Given the description of an element on the screen output the (x, y) to click on. 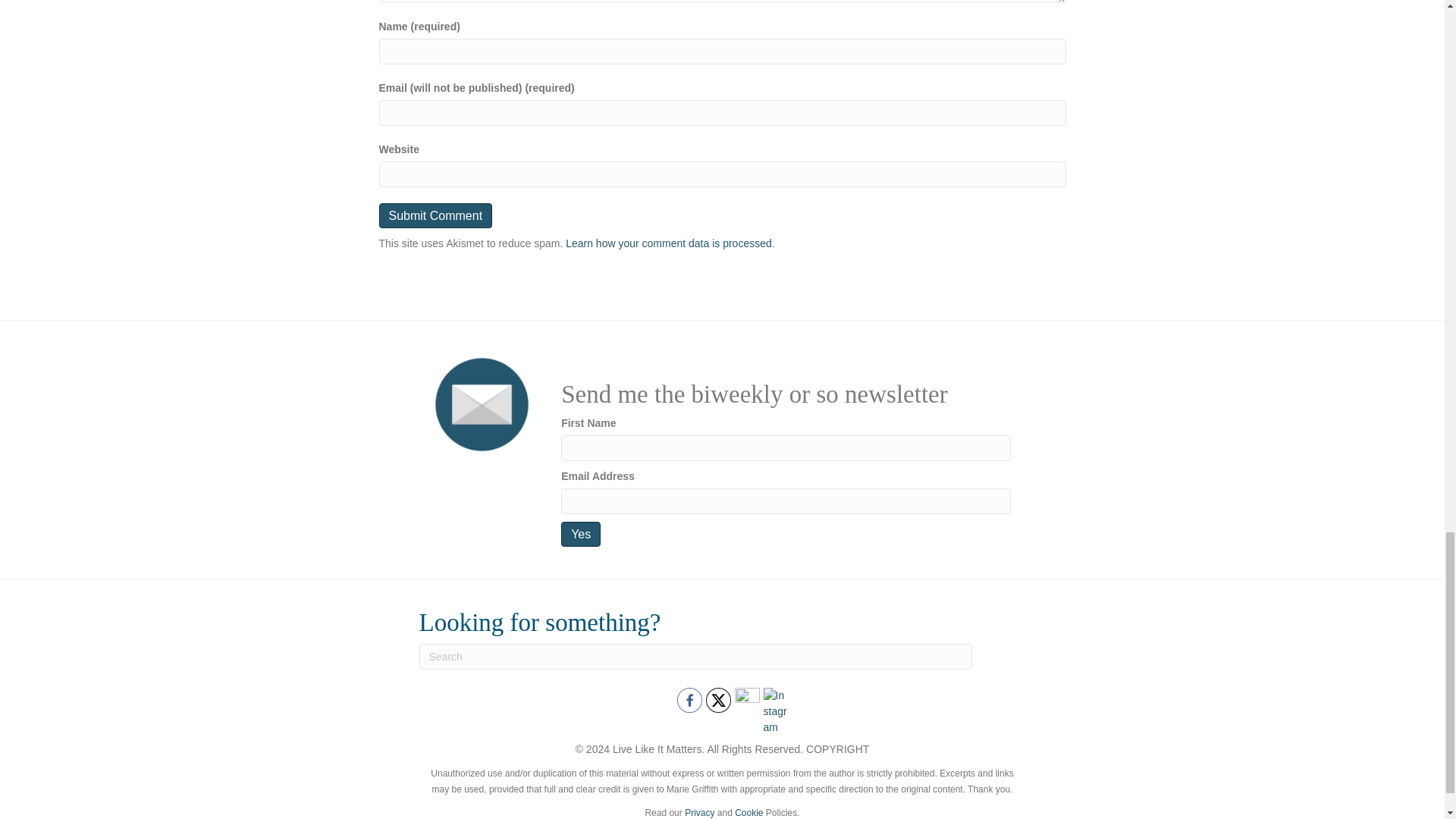
Facebook (689, 699)
Cookie (748, 812)
Learn how your comment data is processed (668, 243)
Yes (579, 534)
Yes (579, 534)
Type and press Enter to search. (695, 656)
Submit Comment (435, 215)
Privacy (699, 812)
Submit Comment (435, 215)
Twitter (717, 699)
